Given the description of an element on the screen output the (x, y) to click on. 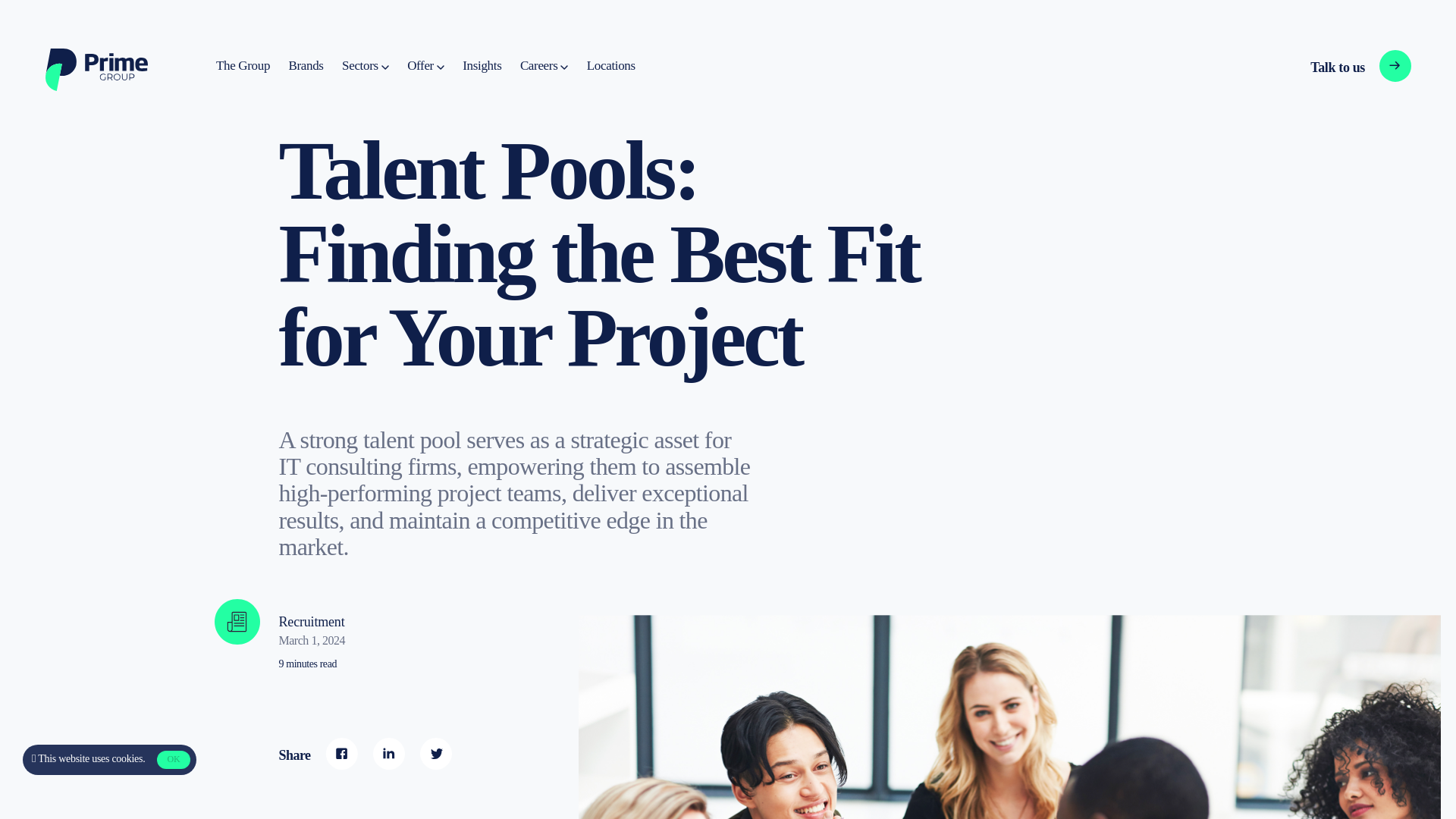
uses cookies. (117, 758)
Brands (305, 66)
Offer (1334, 67)
The Group (425, 66)
Sectors (242, 66)
Insights (365, 66)
Careers (481, 66)
Locations (543, 66)
OK (610, 66)
